Given the description of an element on the screen output the (x, y) to click on. 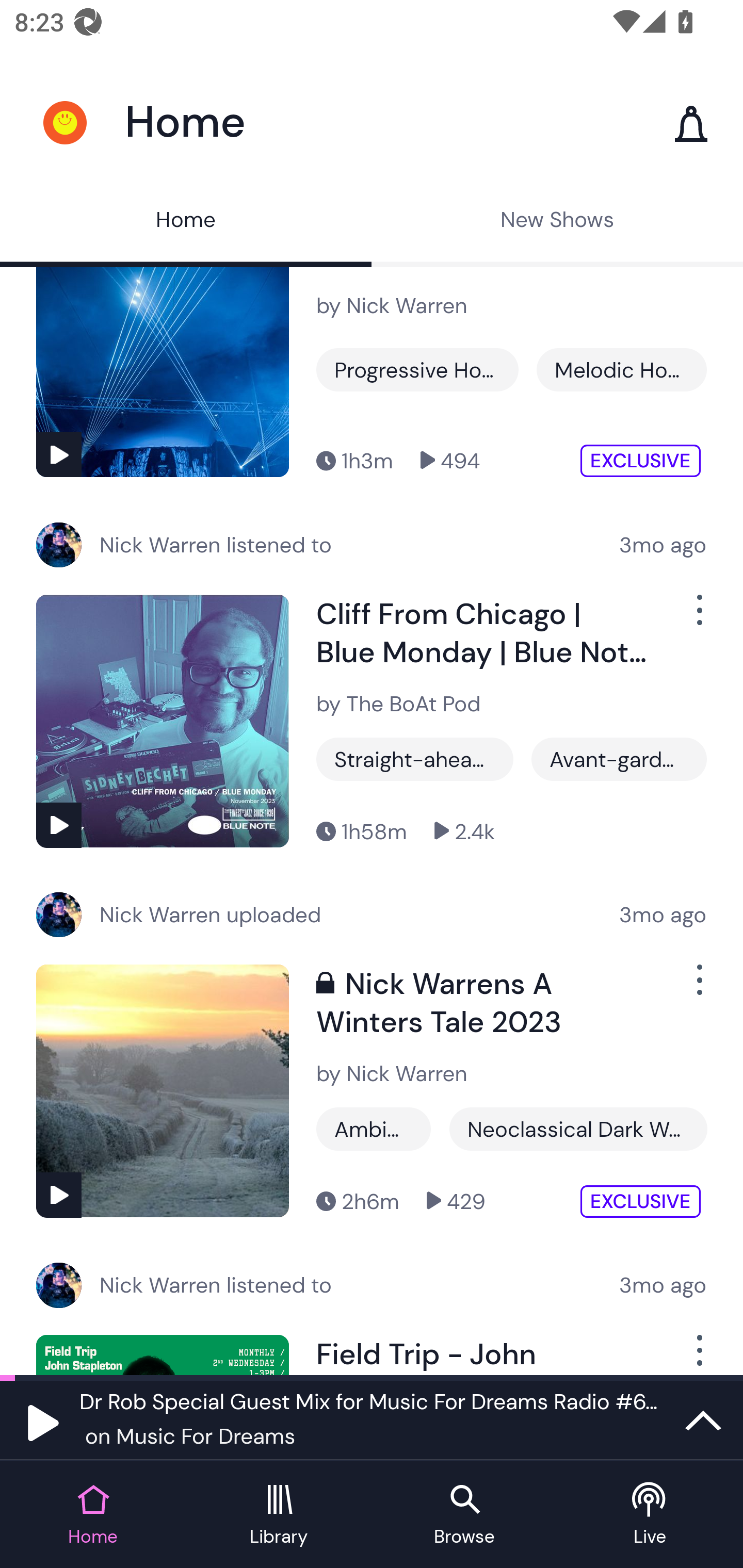
Home (185, 221)
New Shows (557, 221)
Progressive House (417, 370)
Melodic House (621, 370)
Show Options Menu Button (697, 617)
Straight-ahead Jazz (414, 758)
Avant-garde Jazz (618, 758)
Show Options Menu Button (697, 987)
Ambient (373, 1128)
Neoclassical Dark Wave (577, 1128)
Show Options Menu Button (697, 1354)
Home tab Home (92, 1515)
Library tab Library (278, 1515)
Browse tab Browse (464, 1515)
Live tab Live (650, 1515)
